Given the description of an element on the screen output the (x, y) to click on. 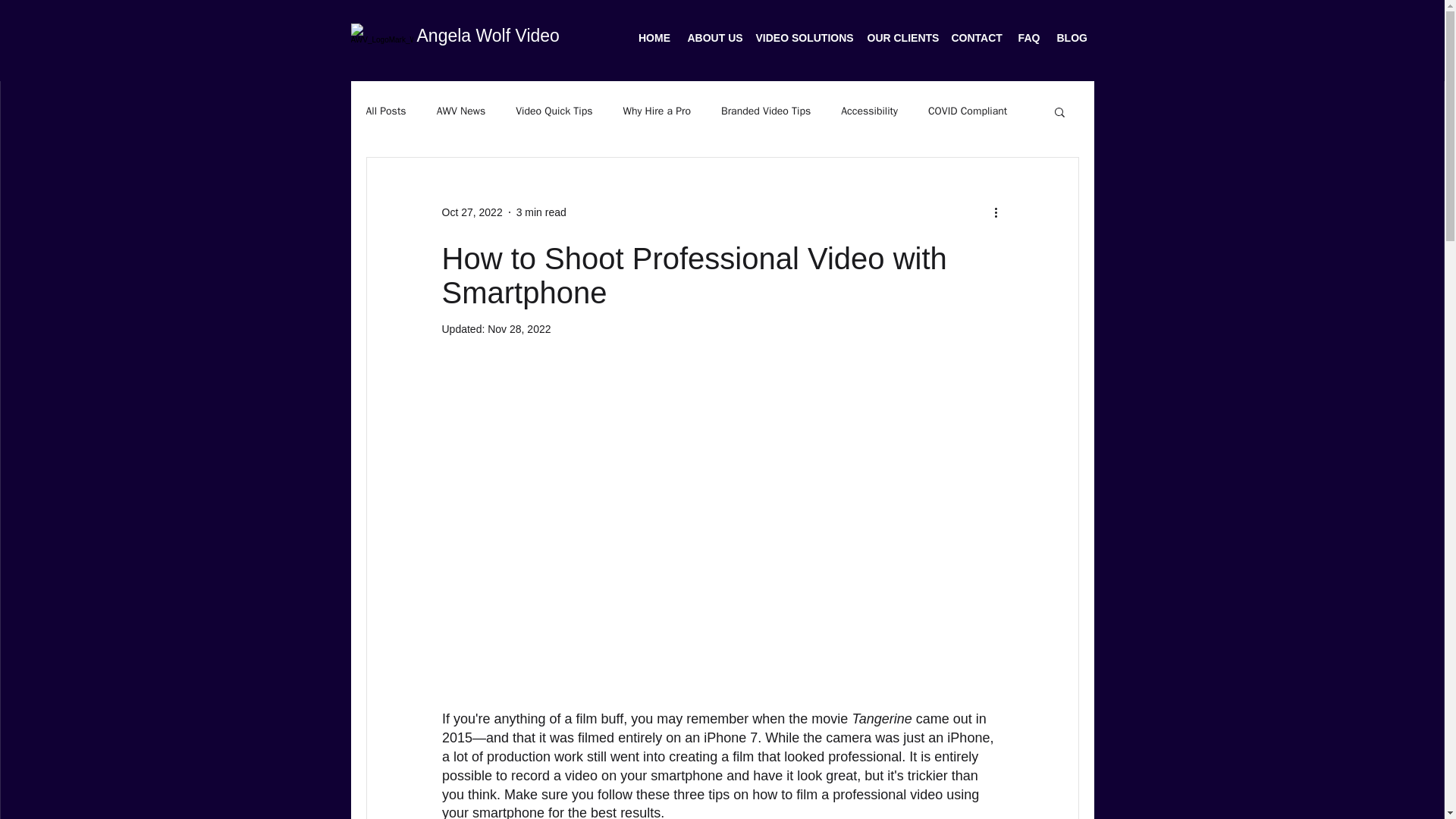
HOME (653, 37)
VIDEO SOLUTIONS (803, 37)
Why Hire a Pro (656, 110)
Branded Video Tips (765, 110)
All Posts (385, 110)
3 min read (541, 212)
Accessibility (869, 110)
OUR CLIENTS (900, 37)
ricos-video (722, 429)
ABOUT US (713, 37)
COVID Compliant (967, 110)
CONTACT (976, 37)
Oct 27, 2022 (471, 212)
AWV News (461, 110)
FAQ (1029, 37)
